Given the description of an element on the screen output the (x, y) to click on. 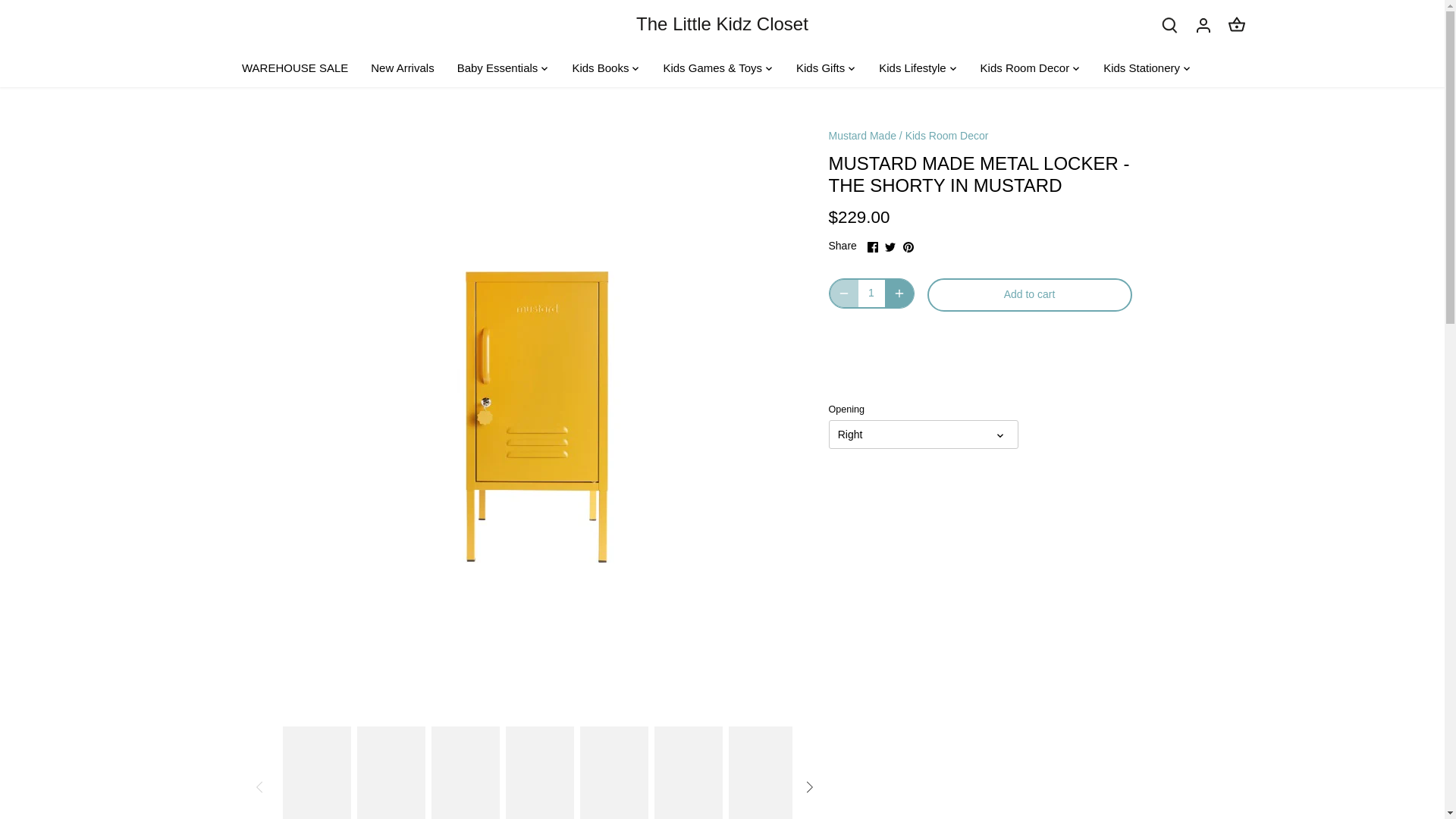
New Arrivals (402, 68)
Facebook (872, 246)
Kids Books (600, 68)
Baby Essentials (497, 68)
Twitter (890, 246)
The Little Kidz Closet (722, 24)
1 (872, 293)
WAREHOUSE SALE (300, 68)
Pinterest (908, 246)
